Given the description of an element on the screen output the (x, y) to click on. 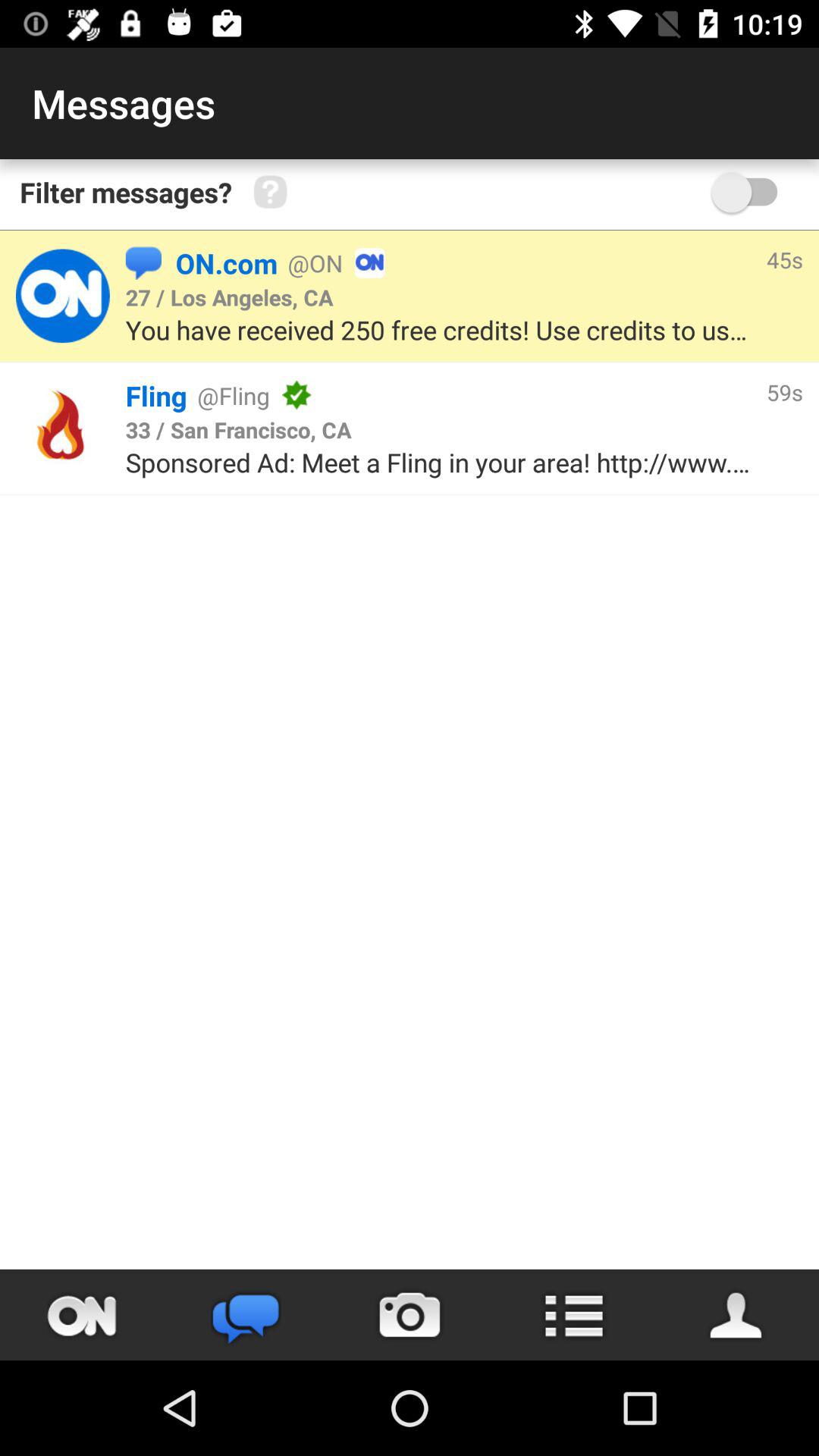
toggle filter messages (751, 192)
